Given the description of an element on the screen output the (x, y) to click on. 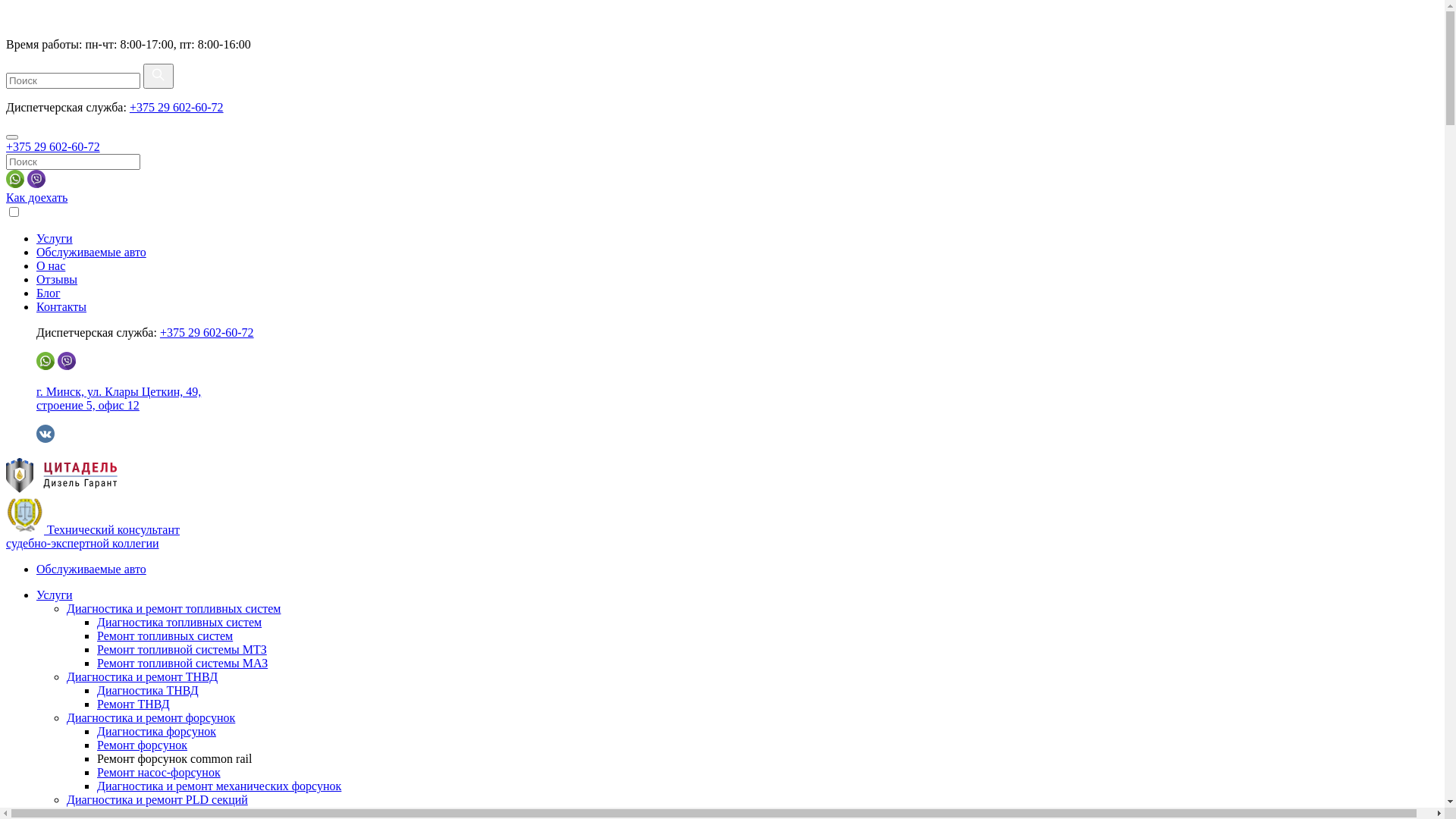
+375 29 602-60-72 Element type: text (176, 106)
+375 29 602-60-72 Element type: text (53, 146)
+375 29 602-60-72 Element type: text (207, 332)
